Given the description of an element on the screen output the (x, y) to click on. 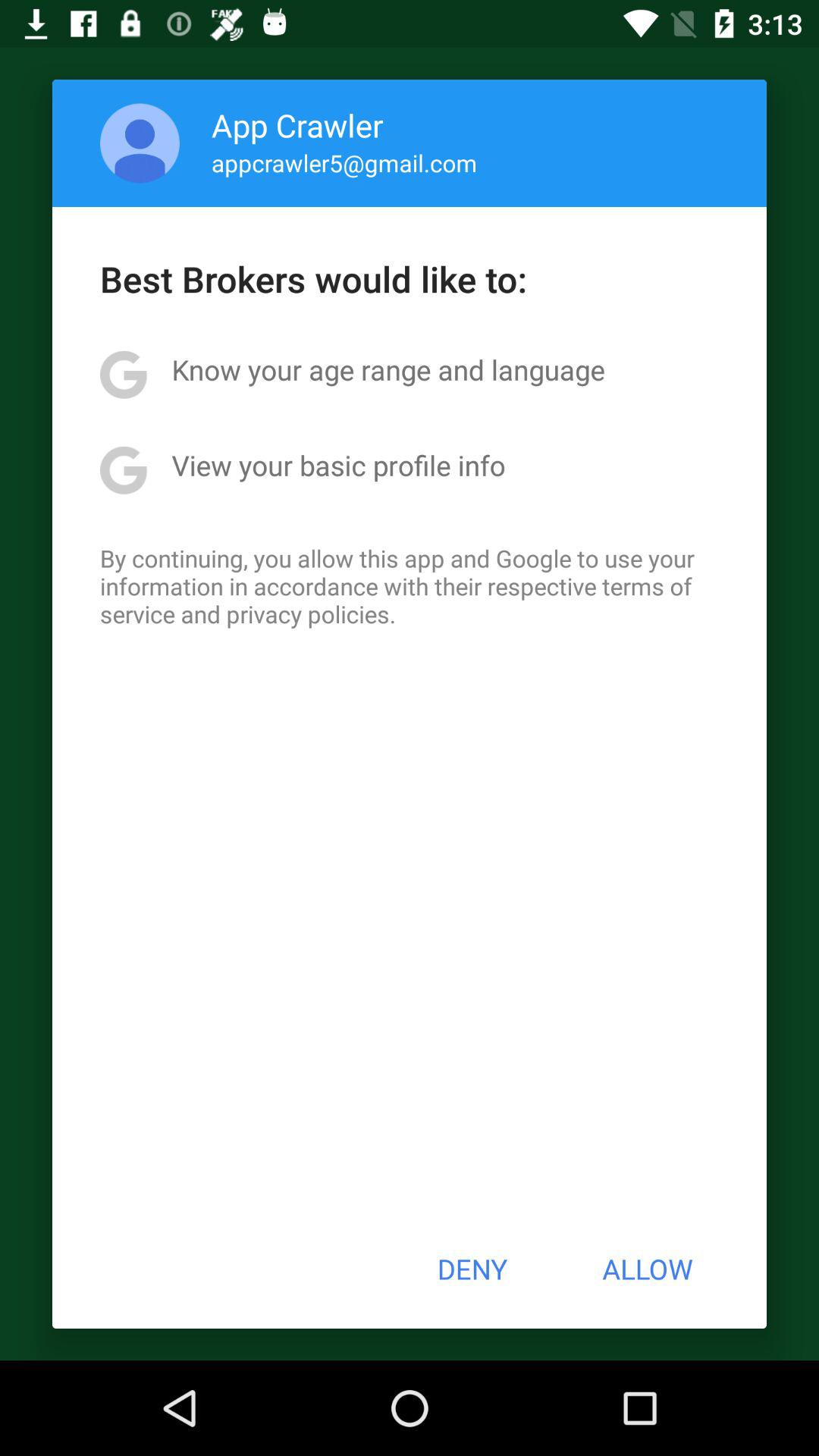
tap the icon below the know your age app (338, 465)
